Given the description of an element on the screen output the (x, y) to click on. 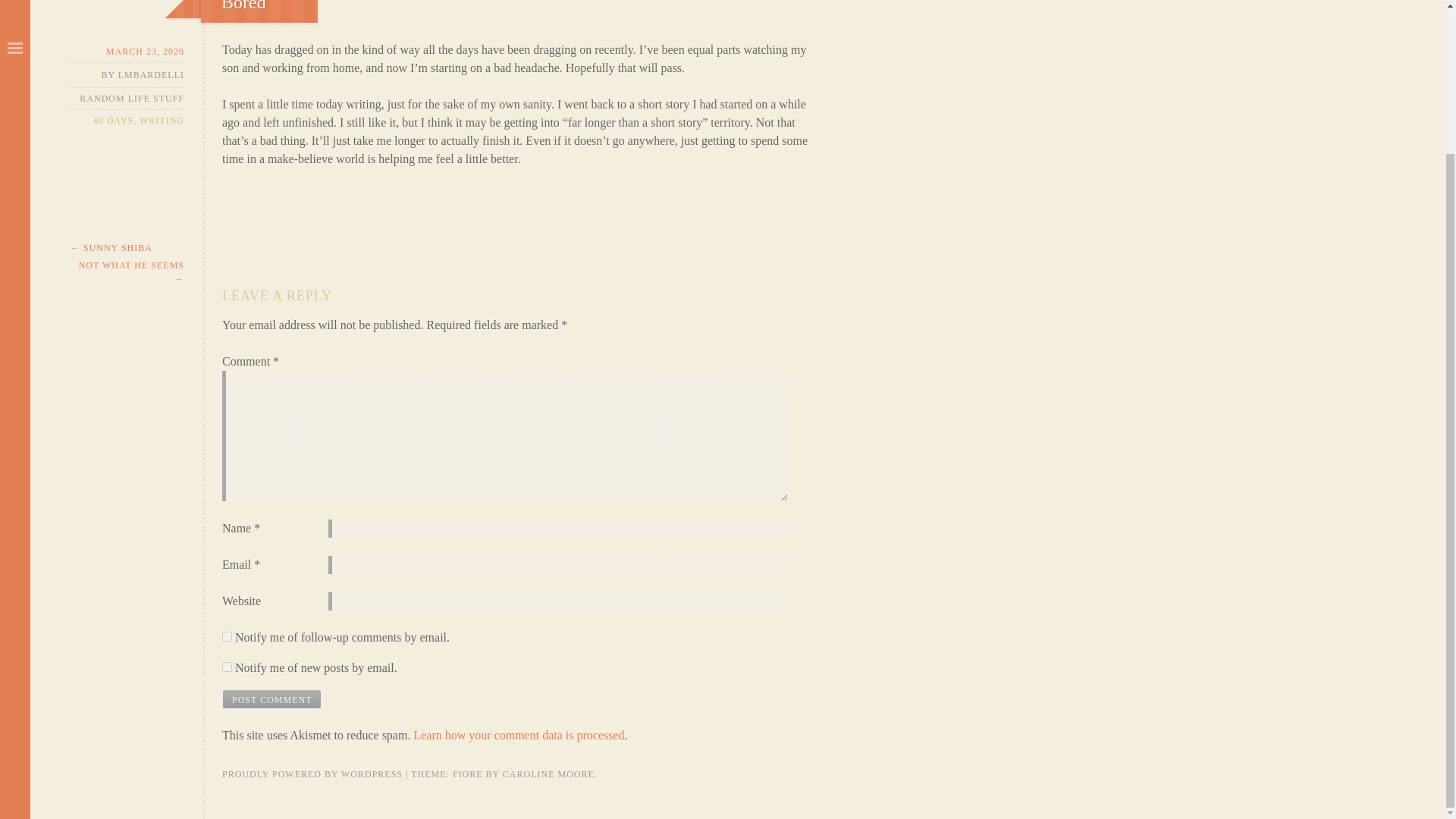
WRITING (161, 120)
A Semantic Personal Publishing Platform (312, 774)
CAROLINE MOORE (548, 774)
8:01 pm (126, 51)
Post Comment (271, 698)
RANDOM LIFE STUFF (132, 98)
MARCH 23, 2020 (126, 51)
subscribe (226, 636)
LMBARDELLI (150, 75)
Learn how your comment data is processed (518, 735)
40 DAYS (113, 120)
Post Comment (271, 698)
View all posts by lmbardelli (150, 75)
subscribe (226, 666)
PROUDLY POWERED BY WORDPRESS (312, 774)
